Given the description of an element on the screen output the (x, y) to click on. 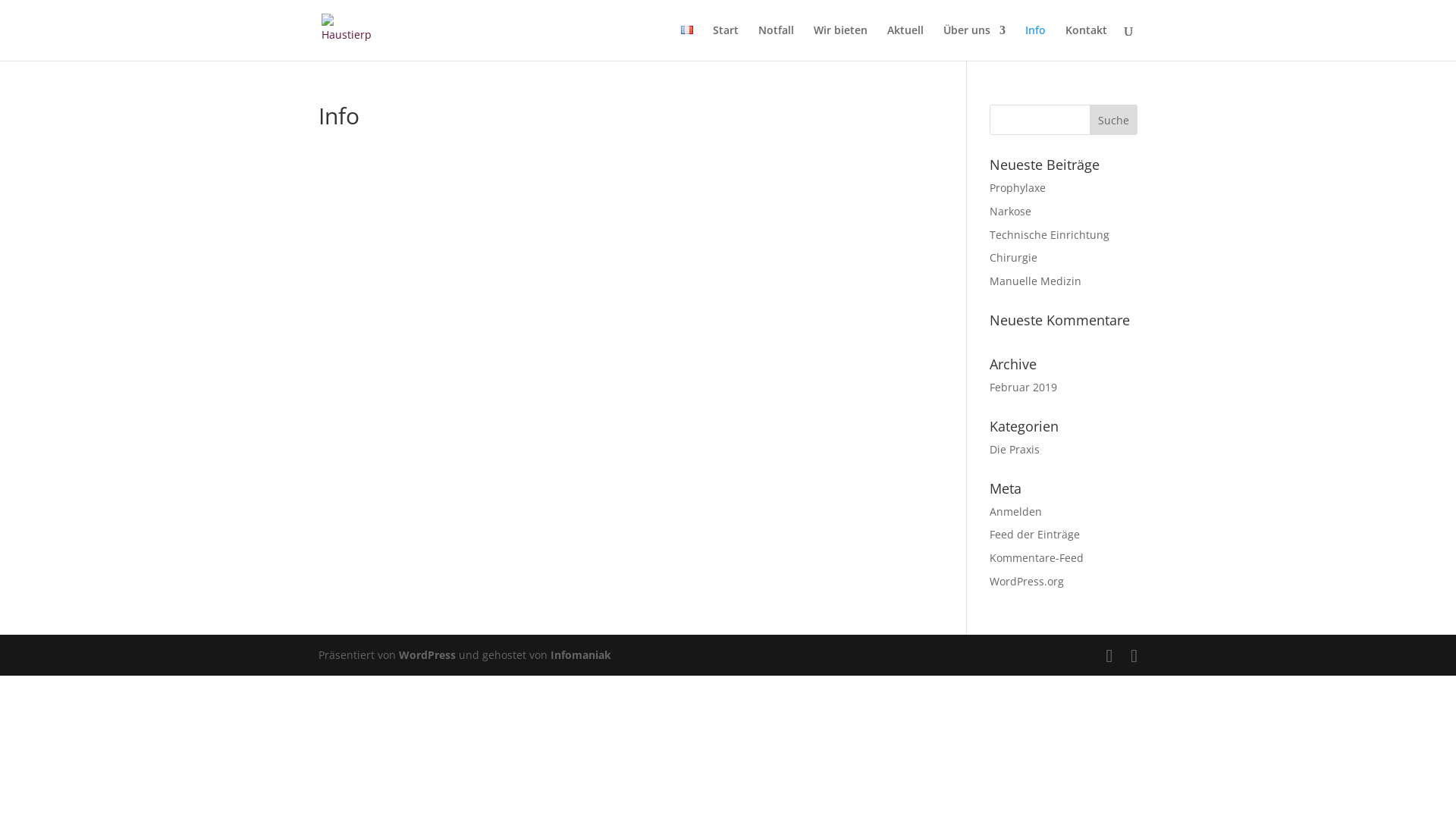
Anmelden Element type: text (1015, 511)
Chirurgie Element type: text (1013, 257)
Info Element type: text (1035, 42)
Start Element type: text (725, 42)
Aktuell Element type: text (905, 42)
WordPress.org Element type: text (1026, 581)
Suche Element type: text (1113, 119)
Kontakt Element type: text (1086, 42)
Infomaniak Element type: text (580, 654)
Februar 2019 Element type: text (1023, 386)
Die Praxis Element type: text (1014, 449)
Kommentare-Feed Element type: text (1036, 557)
Manuelle Medizin Element type: text (1035, 280)
Wir bieten Element type: text (840, 42)
Prophylaxe Element type: text (1017, 187)
WordPress Element type: text (426, 654)
Narkose Element type: text (1010, 210)
Notfall Element type: text (775, 42)
Technische Einrichtung Element type: text (1049, 234)
